Given the description of an element on the screen output the (x, y) to click on. 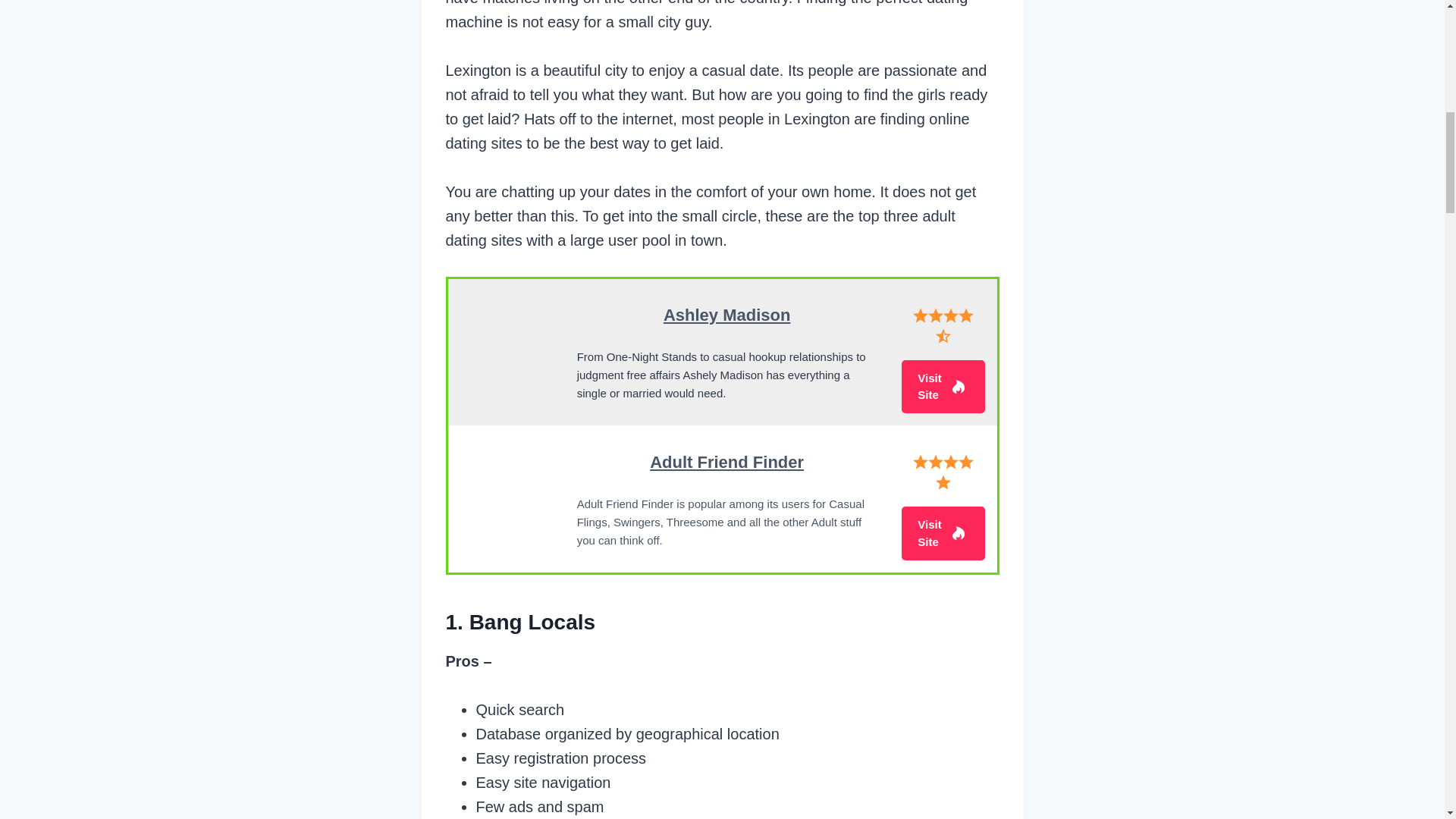
Visit Site (943, 533)
Ashley Madison (726, 314)
Visit Site (943, 387)
Adult Friend Finder (726, 461)
